Given the description of an element on the screen output the (x, y) to click on. 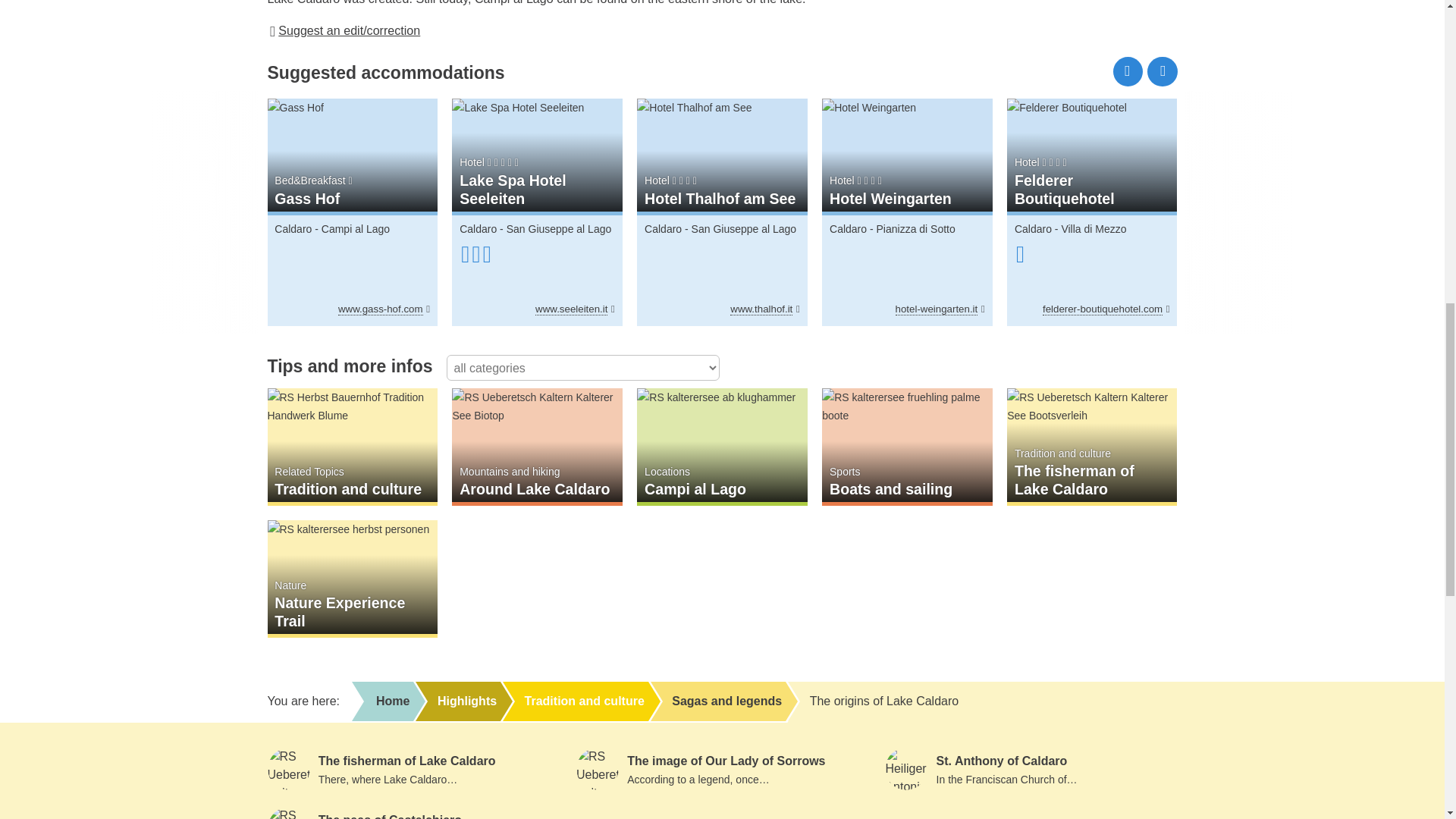
Gass Hof (351, 107)
Information about Caldaro (293, 228)
